Given the description of an element on the screen output the (x, y) to click on. 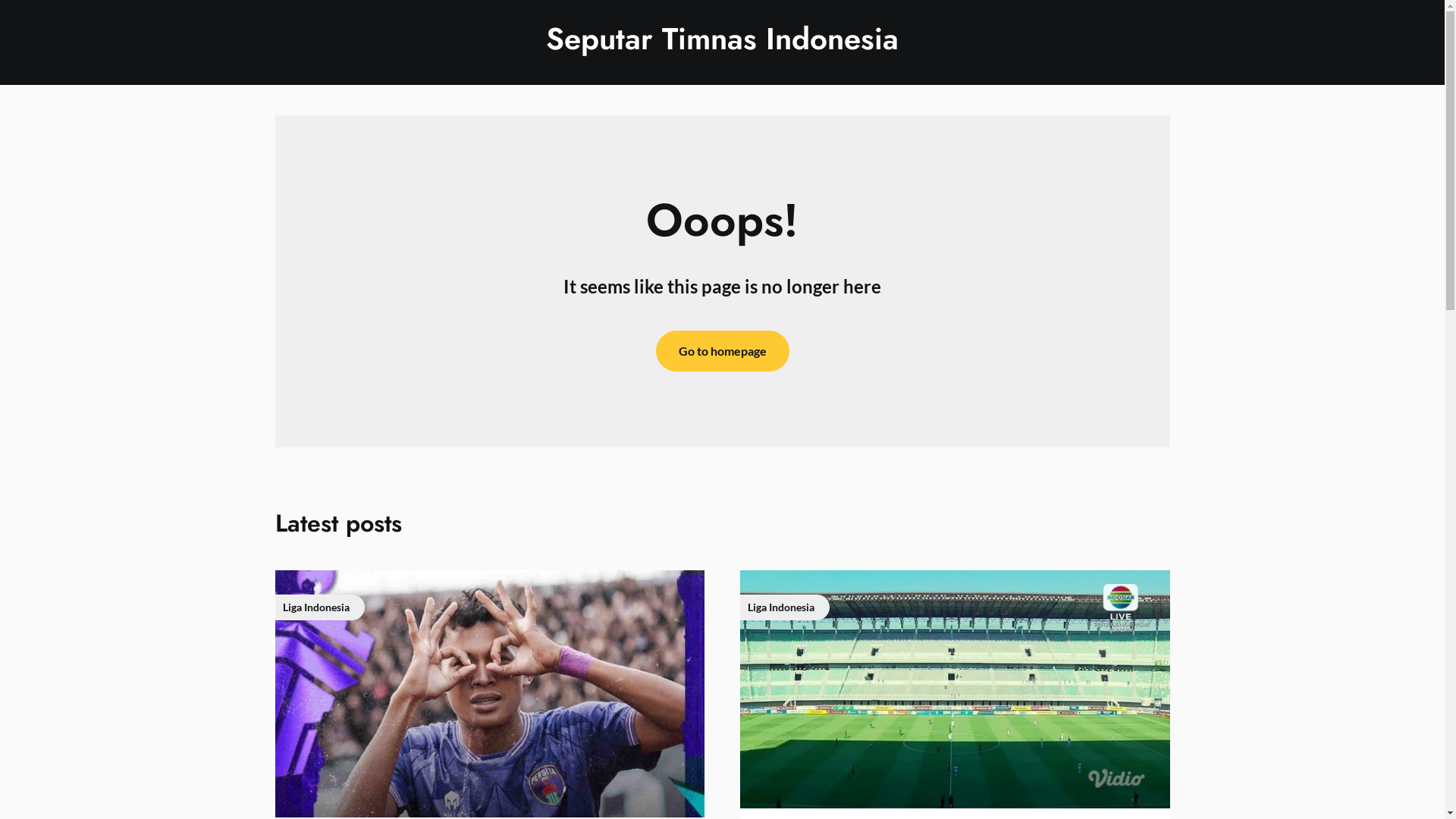
Go to homepage Element type: text (721, 350)
Liga Indonesia Element type: text (954, 689)
Seputar Timnas Indonesia Element type: text (721, 38)
Liga Indonesia Element type: text (488, 693)
